Given the description of an element on the screen output the (x, y) to click on. 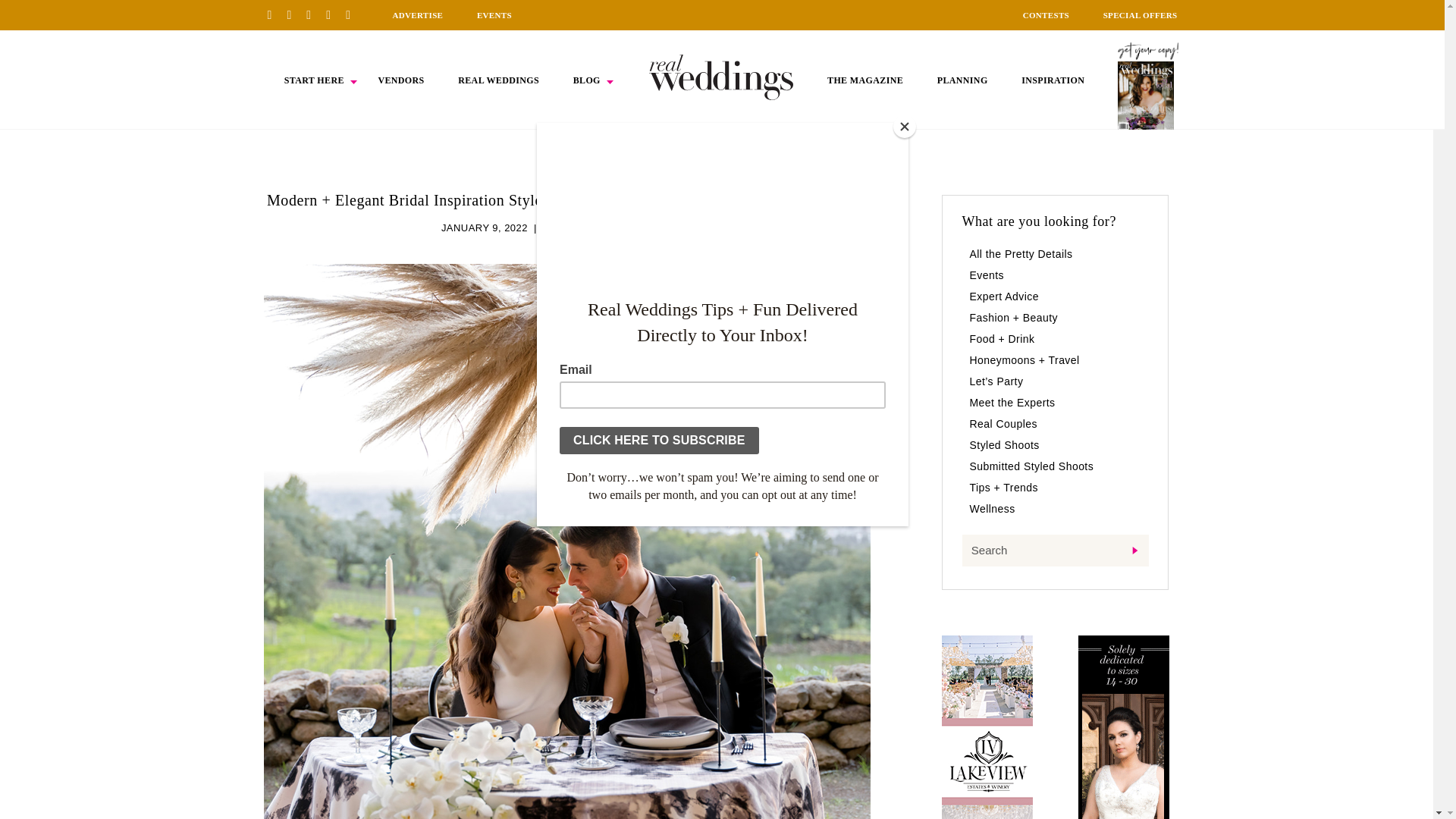
BLOG (586, 80)
ADVERTISE (416, 14)
SPECIAL OFFERS (1140, 14)
CONTESTS (1045, 14)
Pinterest (274, 14)
Facebook (294, 14)
YouTube (353, 14)
Twitter (334, 14)
Instagram (313, 14)
START HERE (313, 80)
SUBMITTED STYLED SHOOTS (618, 227)
INSPIRATION (1053, 80)
Search (1054, 550)
EVENTS (494, 14)
VENDORS (400, 80)
